Given the description of an element on the screen output the (x, y) to click on. 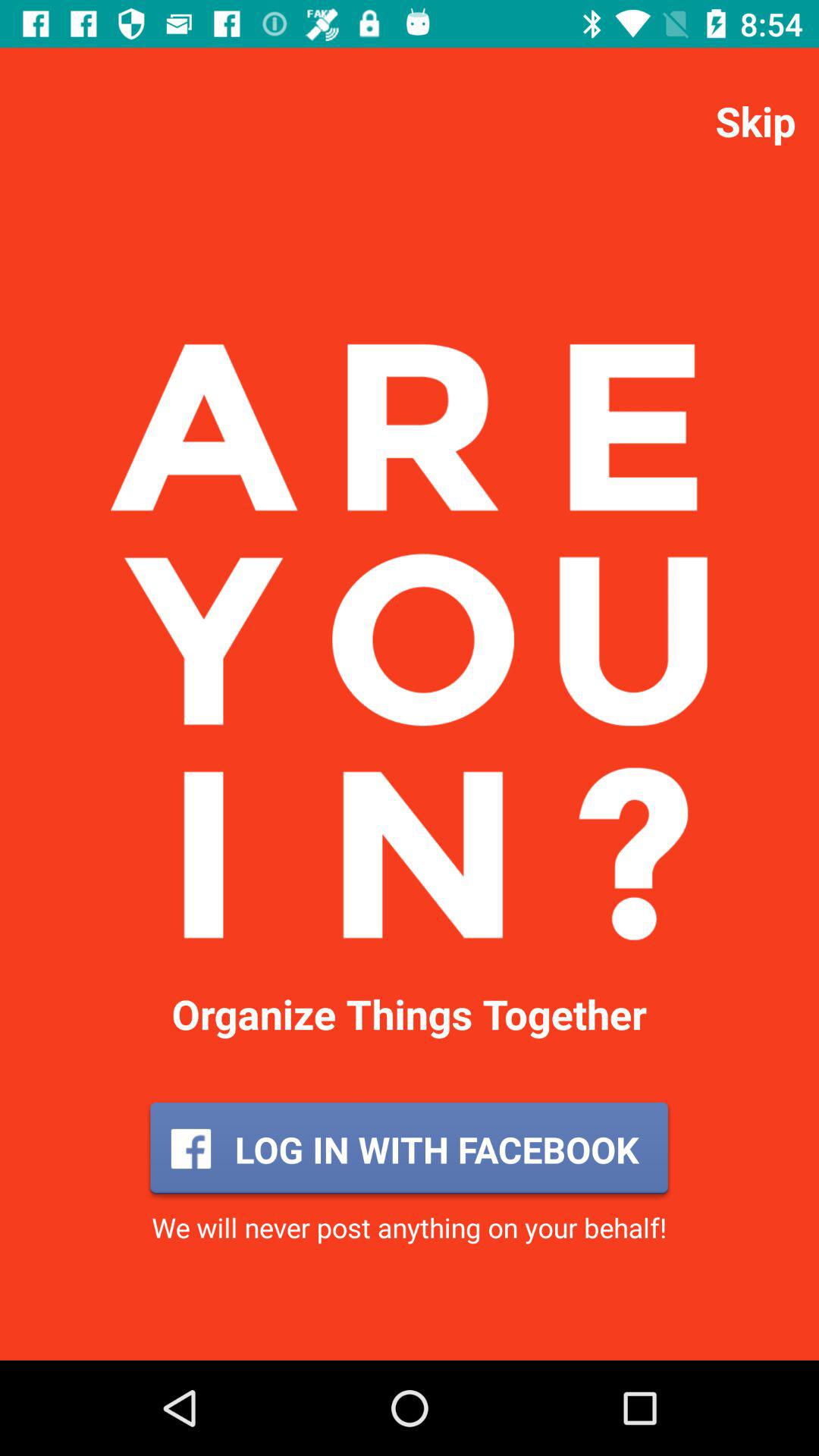
open skip item (755, 120)
